Given the description of an element on the screen output the (x, y) to click on. 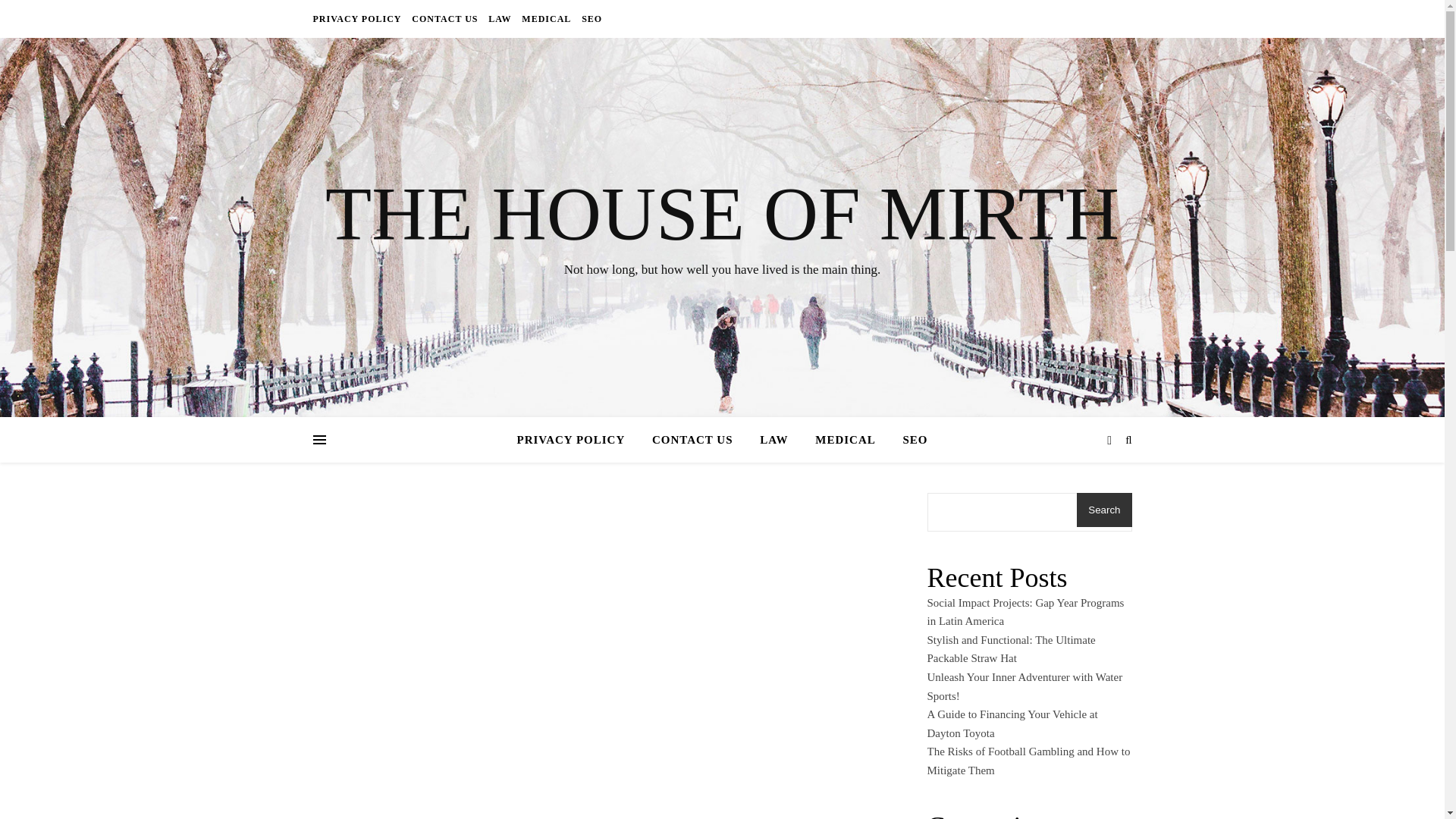
LAW (773, 439)
CONTACT US (692, 439)
The Risks of Football Gambling and How to Mitigate Them (1027, 760)
Social Impact Projects: Gap Year Programs in Latin America (1025, 612)
PRIVACY POLICY (358, 18)
PRIVACY POLICY (576, 439)
MEDICAL (845, 439)
Stylish and Functional: The Ultimate Packable Straw Hat (1010, 649)
Unleash Your Inner Adventurer with Water Sports! (1024, 685)
A Guide to Financing Your Vehicle at Dayton Toyota (1011, 723)
